Given the description of an element on the screen output the (x, y) to click on. 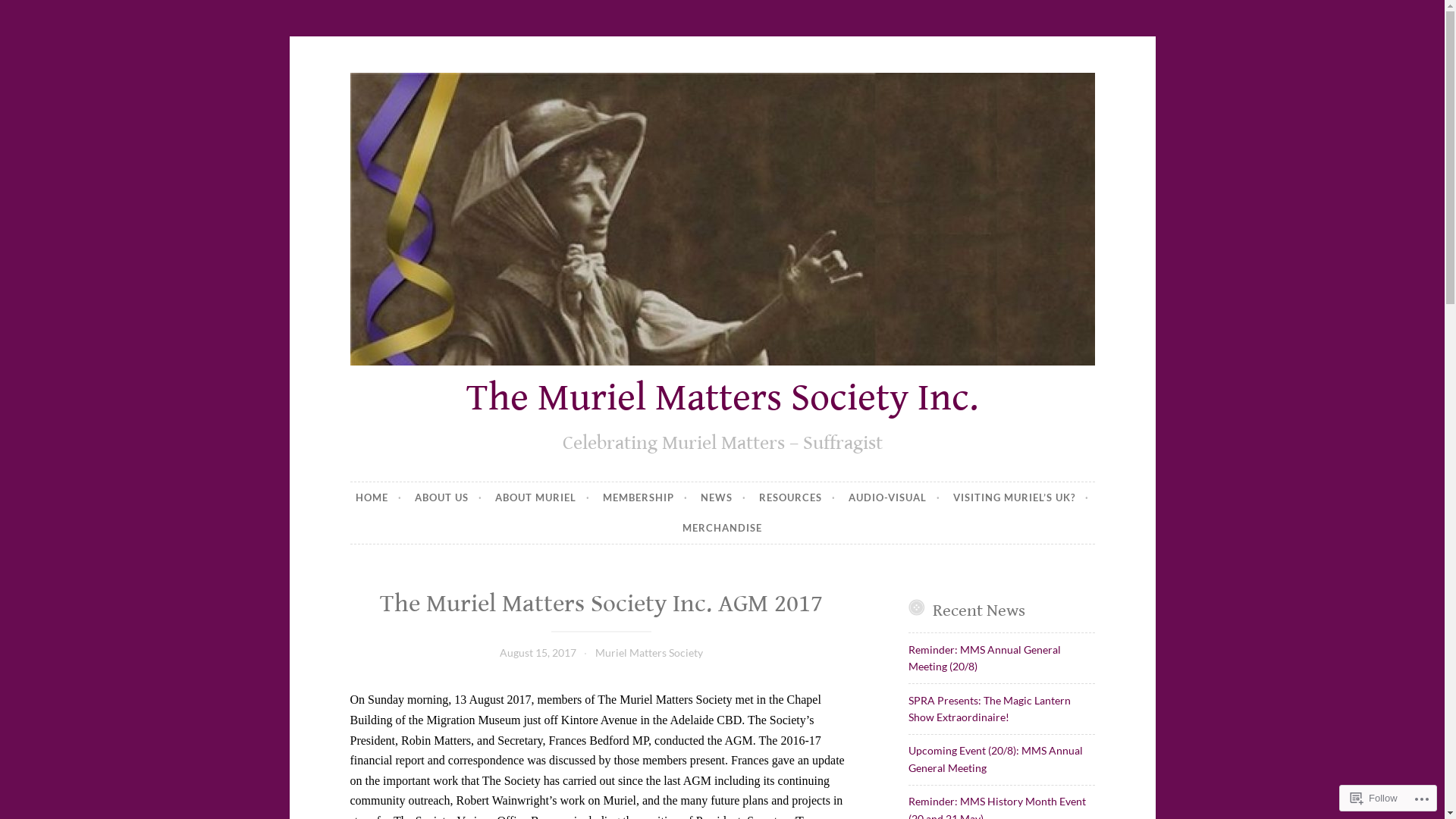
MERCHANDISE Element type: text (722, 528)
MEMBERSHIP Element type: text (644, 497)
HOME Element type: text (378, 497)
ABOUT MURIEL Element type: text (542, 497)
The Muriel Matters Society Inc. Element type: text (722, 398)
RESOURCES Element type: text (797, 497)
Upcoming Event (20/8): MMS Annual General Meeting Element type: text (995, 758)
NEWS Element type: text (723, 497)
AUDIO-VISUAL Element type: text (894, 497)
ABOUT US Element type: text (448, 497)
Muriel Matters Society Element type: text (648, 652)
SPRA Presents: The Magic Lantern Show Extraordinaire! Element type: text (989, 708)
August 15, 2017 Element type: text (537, 652)
Reminder: MMS Annual General Meeting (20/8) Element type: text (984, 657)
Follow Element type: text (1373, 797)
